Given the description of an element on the screen output the (x, y) to click on. 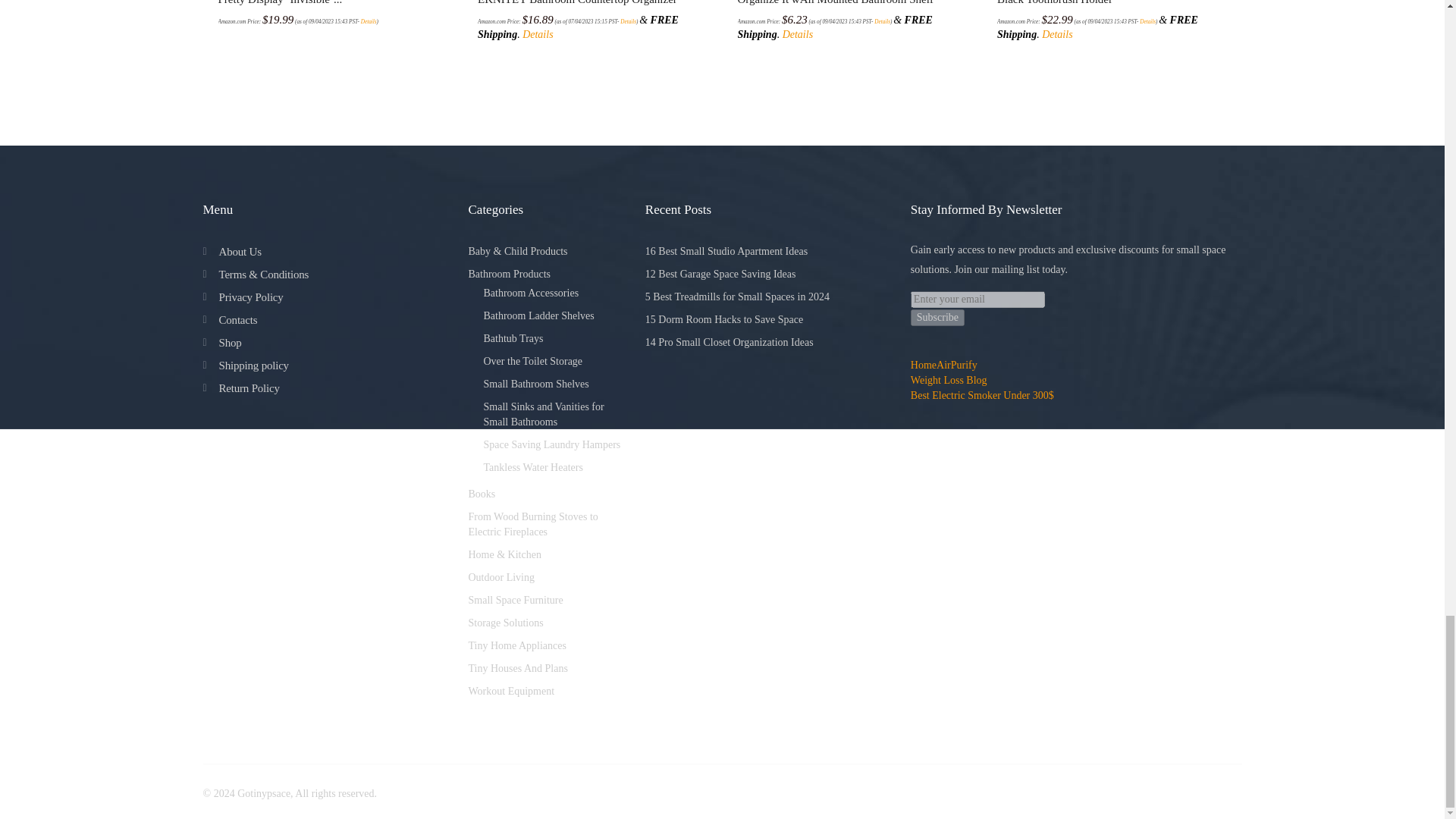
Subscribe (937, 317)
